Given the description of an element on the screen output the (x, y) to click on. 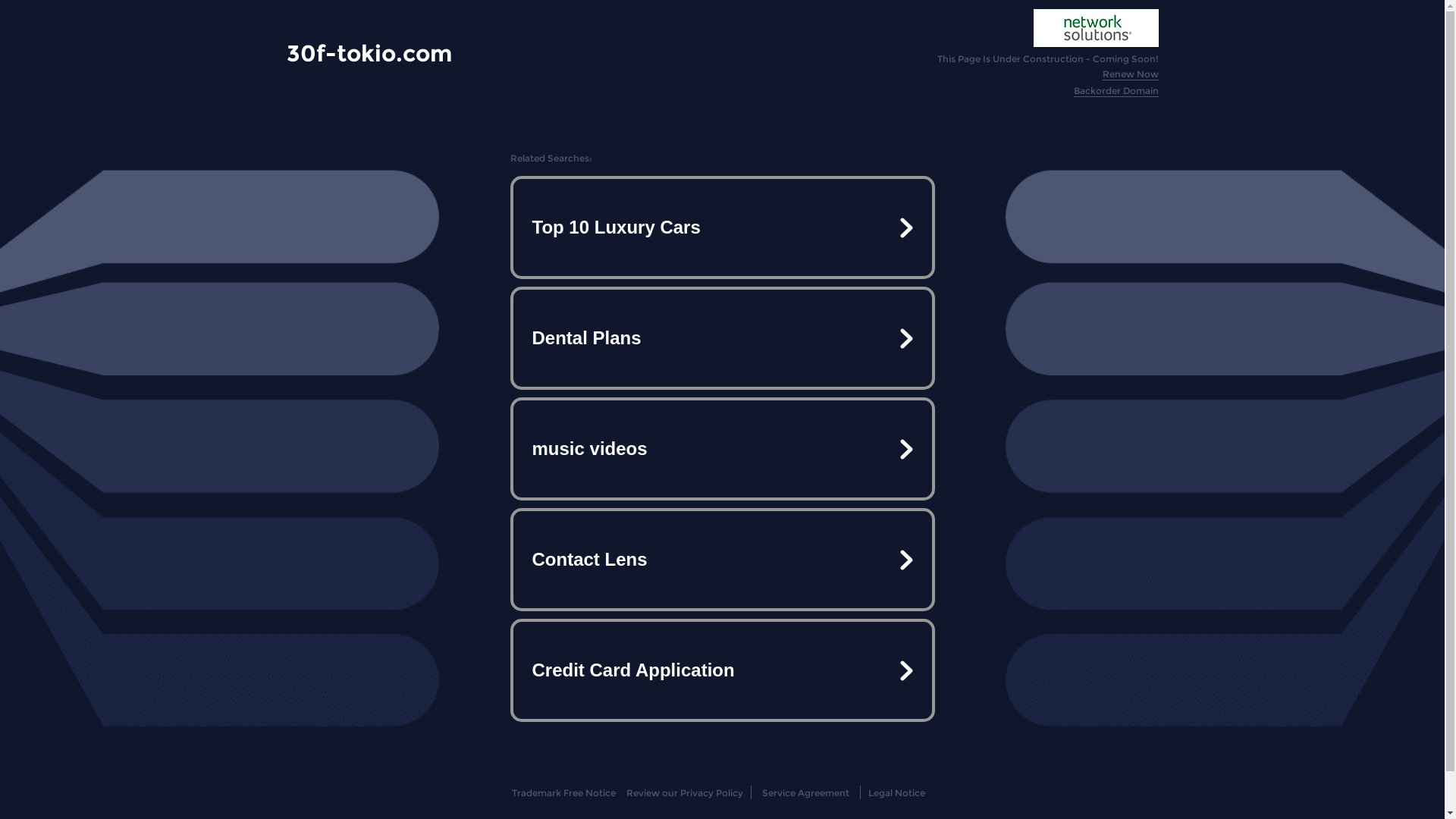
Review our Privacy Policy Element type: text (684, 792)
Renew Now Element type: text (1130, 74)
Legal Notice Element type: text (896, 792)
music videos Element type: text (721, 448)
30f-tokio.com Element type: text (368, 53)
Contact Lens Element type: text (721, 559)
Service Agreement Element type: text (805, 792)
Credit Card Application Element type: text (721, 669)
Top 10 Luxury Cars Element type: text (721, 227)
Dental Plans Element type: text (721, 337)
Trademark Free Notice Element type: text (563, 792)
Backorder Domain Element type: text (1115, 90)
